Given the description of an element on the screen output the (x, y) to click on. 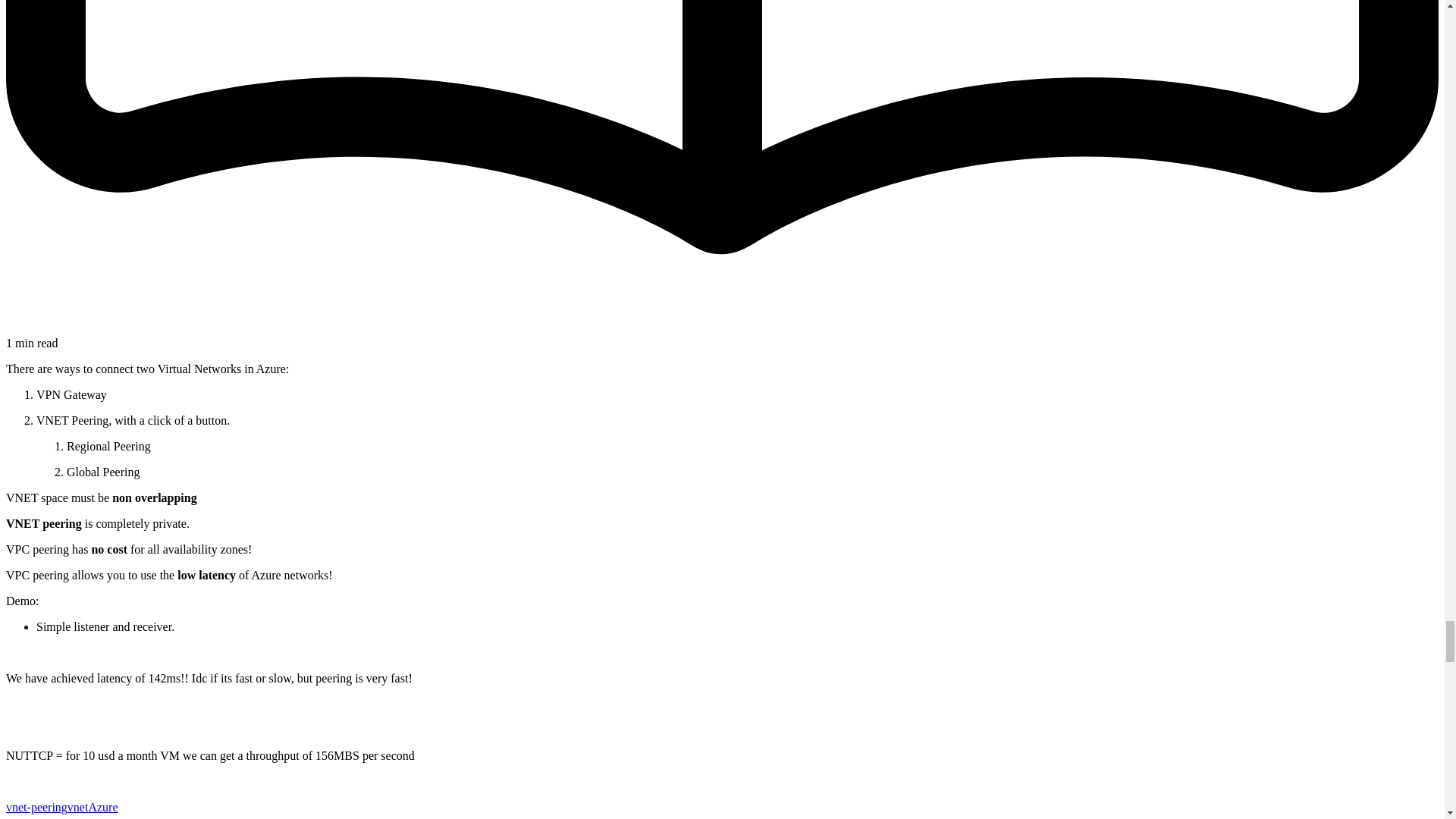
vnet (77, 807)
Azure (102, 807)
vnet-peering (35, 807)
